Given the description of an element on the screen output the (x, y) to click on. 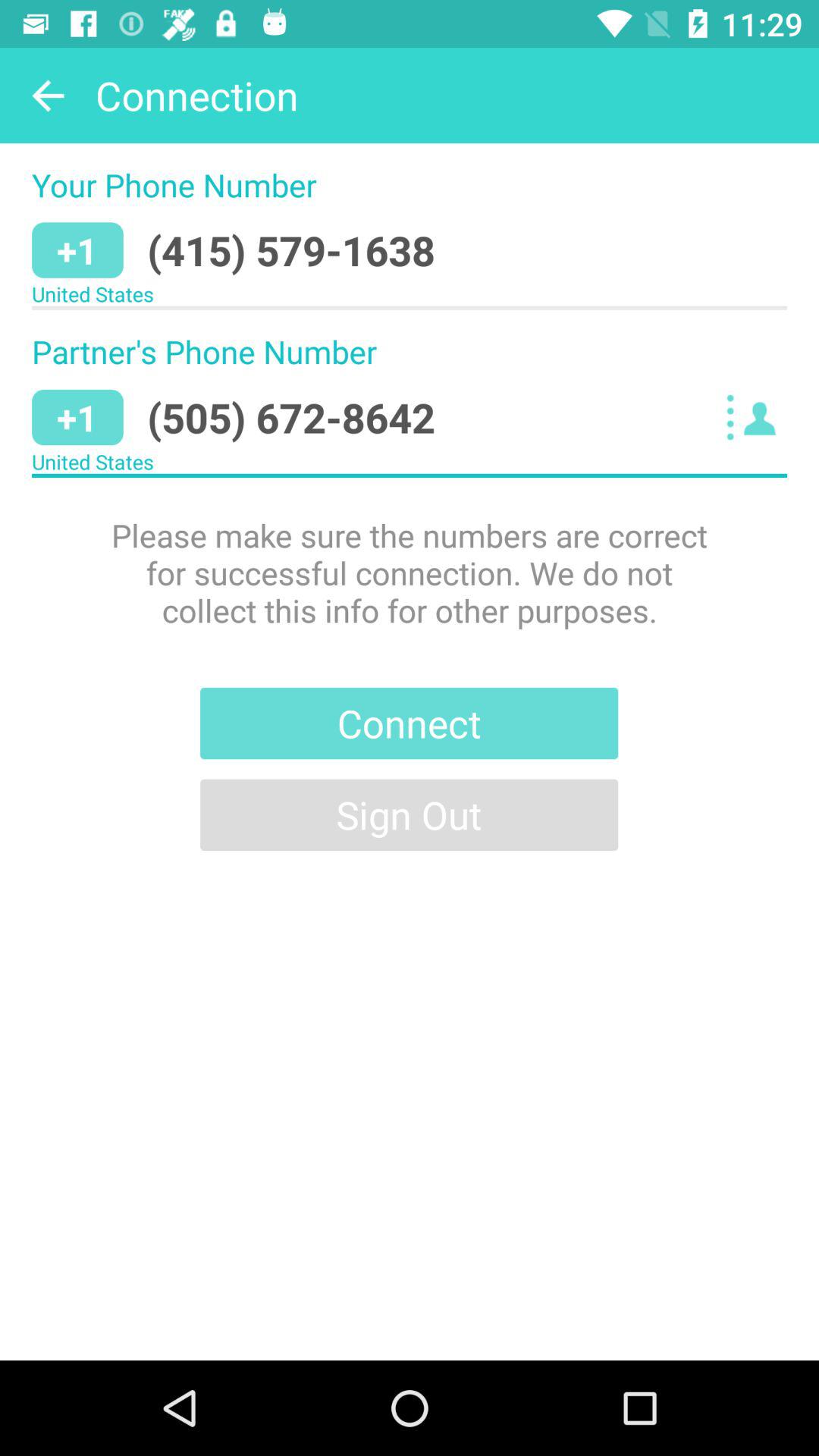
turn on the item below your phone number item (291, 250)
